Given the description of an element on the screen output the (x, y) to click on. 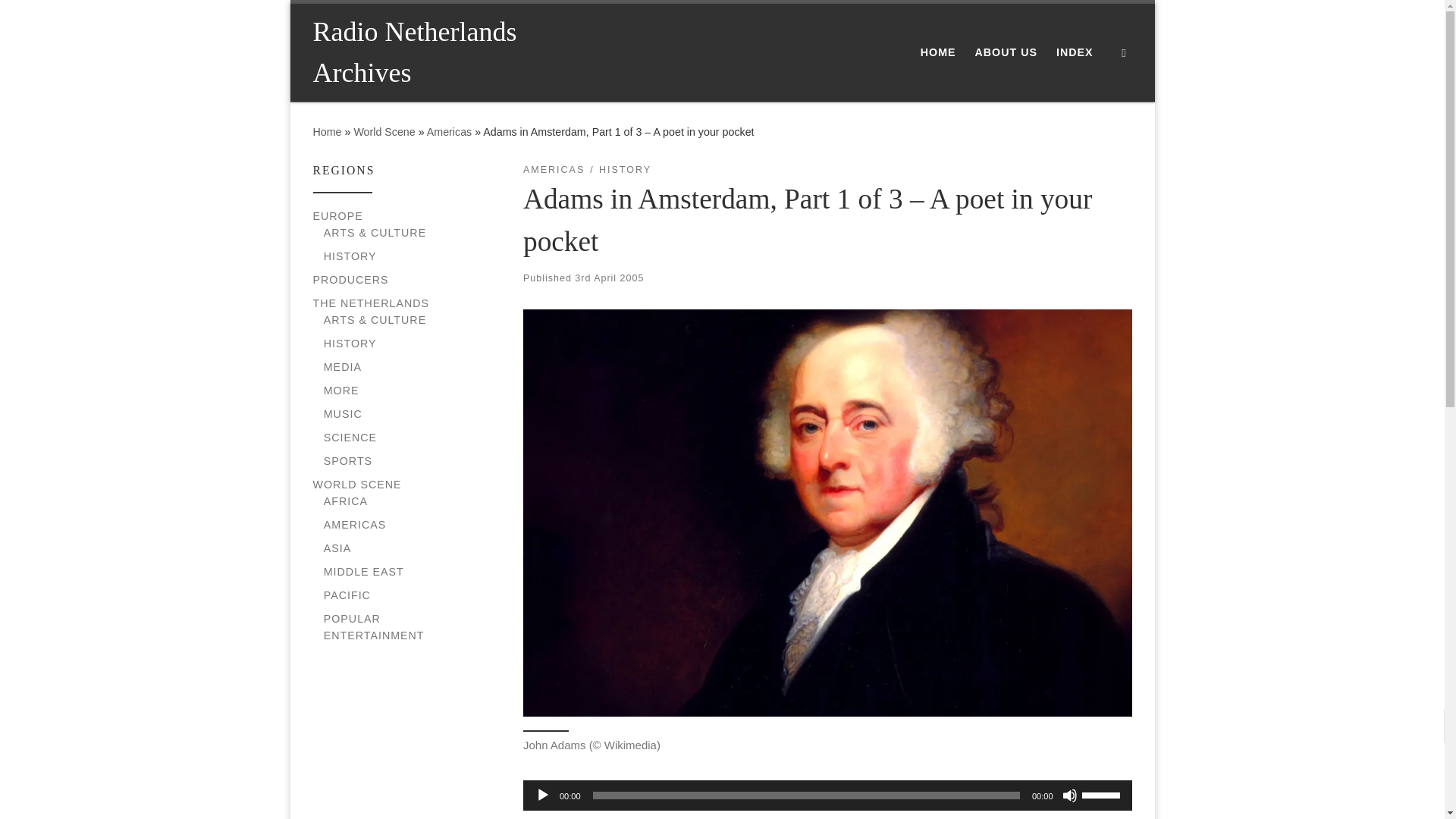
Play (542, 795)
INDEX (1074, 51)
View all posts in Americas (553, 169)
ABOUT US (1005, 51)
HISTORY (350, 256)
3rd April 2005 (609, 277)
Mute (1069, 795)
HOME (937, 51)
View all posts in History (624, 169)
Americas (448, 132)
Radio Netherlands Archives (326, 132)
World Scene (383, 132)
19:22 (609, 277)
Skip to content (60, 20)
Radio Netherlands Archives (440, 52)
